Given the description of an element on the screen output the (x, y) to click on. 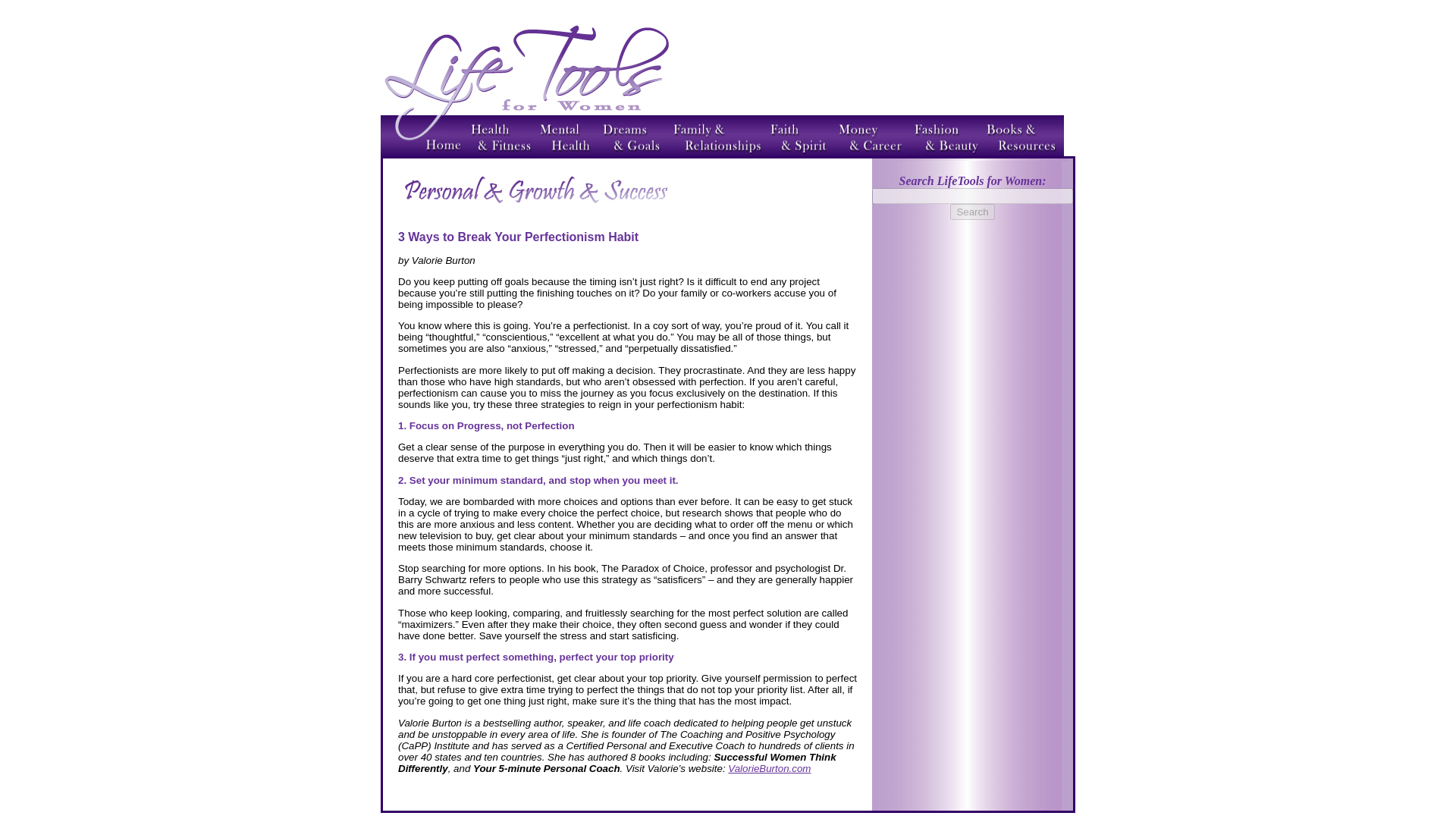
ValorieBurton.com (769, 767)
Advertisement (897, 77)
Search (972, 211)
Search (972, 211)
